Given the description of an element on the screen output the (x, y) to click on. 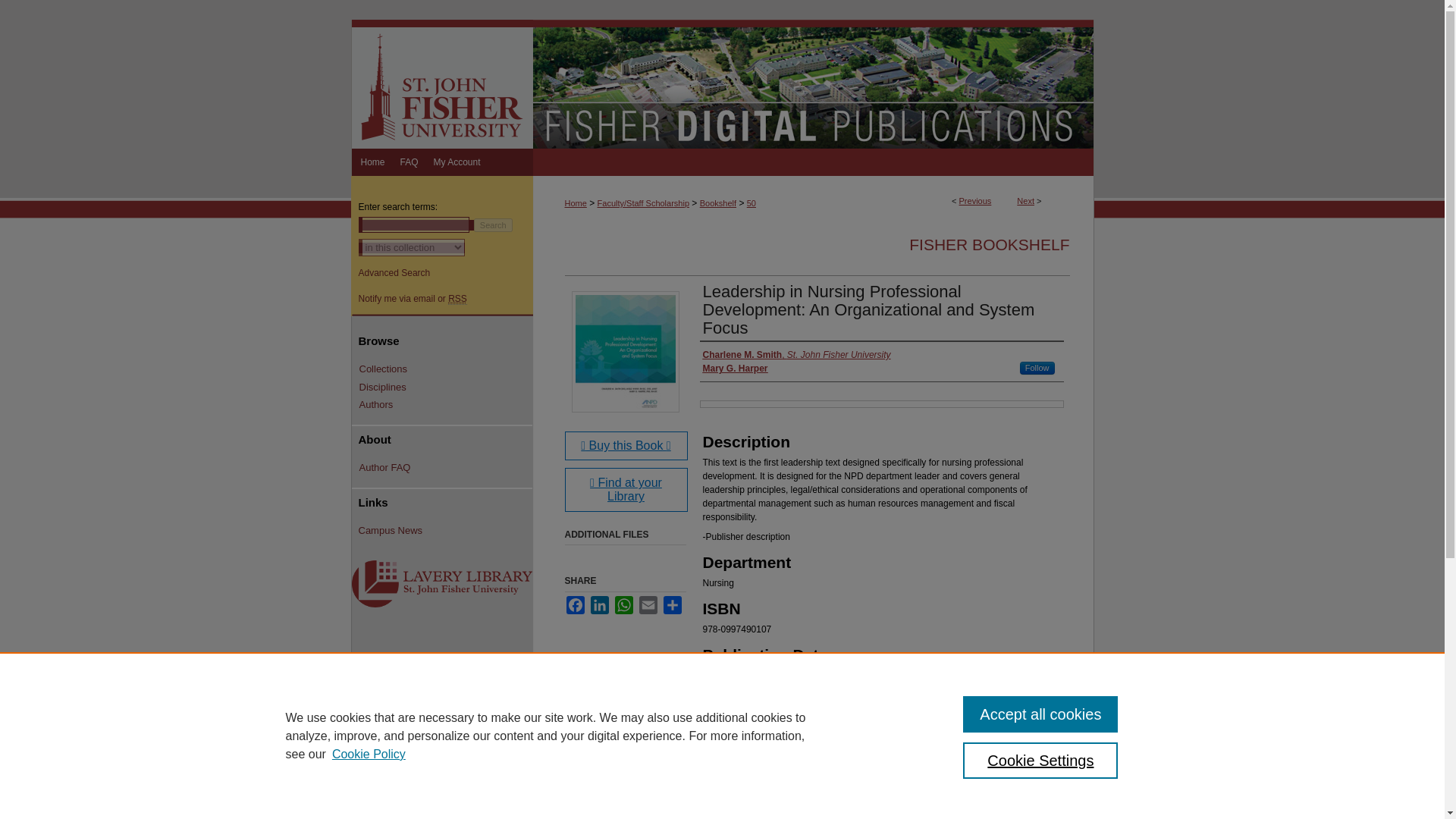
Home (575, 203)
Search (493, 224)
Browse by Collections (445, 369)
Buy this Book (625, 445)
Next (1024, 200)
Find at your Library (625, 489)
Follow Mary G. Harper (1037, 367)
Mary G. Harper (734, 368)
Fisher Digital Publications (812, 83)
Charlene M. Smith, St. John Fisher University (795, 354)
Browse by Disciplines (445, 387)
WhatsApp (622, 605)
Home (372, 162)
FAQ (409, 162)
Follow (1037, 367)
